Given the description of an element on the screen output the (x, y) to click on. 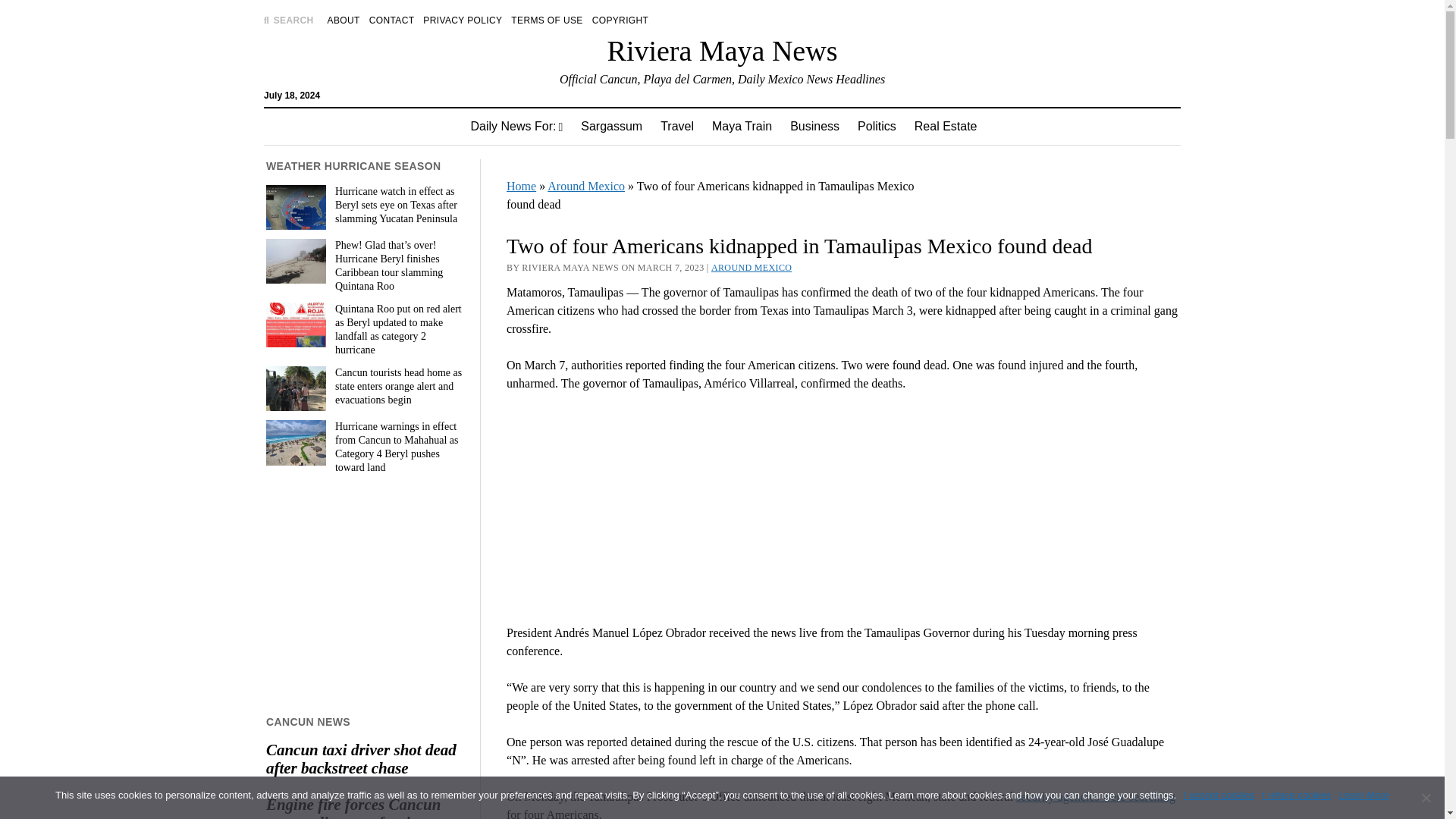
View all posts in Around Mexico (751, 267)
CONTACT (391, 20)
SEARCH (288, 20)
ABOUT (343, 20)
Business (814, 126)
Sargassum (611, 126)
Search (945, 129)
Maya Train (741, 126)
COPYRIGHT (620, 20)
TERMS OF USE (546, 20)
I refuse cookies (1425, 797)
Daily News For: (516, 126)
Riviera Maya News (722, 50)
PRIVACY POLICY (462, 20)
Travel (676, 126)
